Given the description of an element on the screen output the (x, y) to click on. 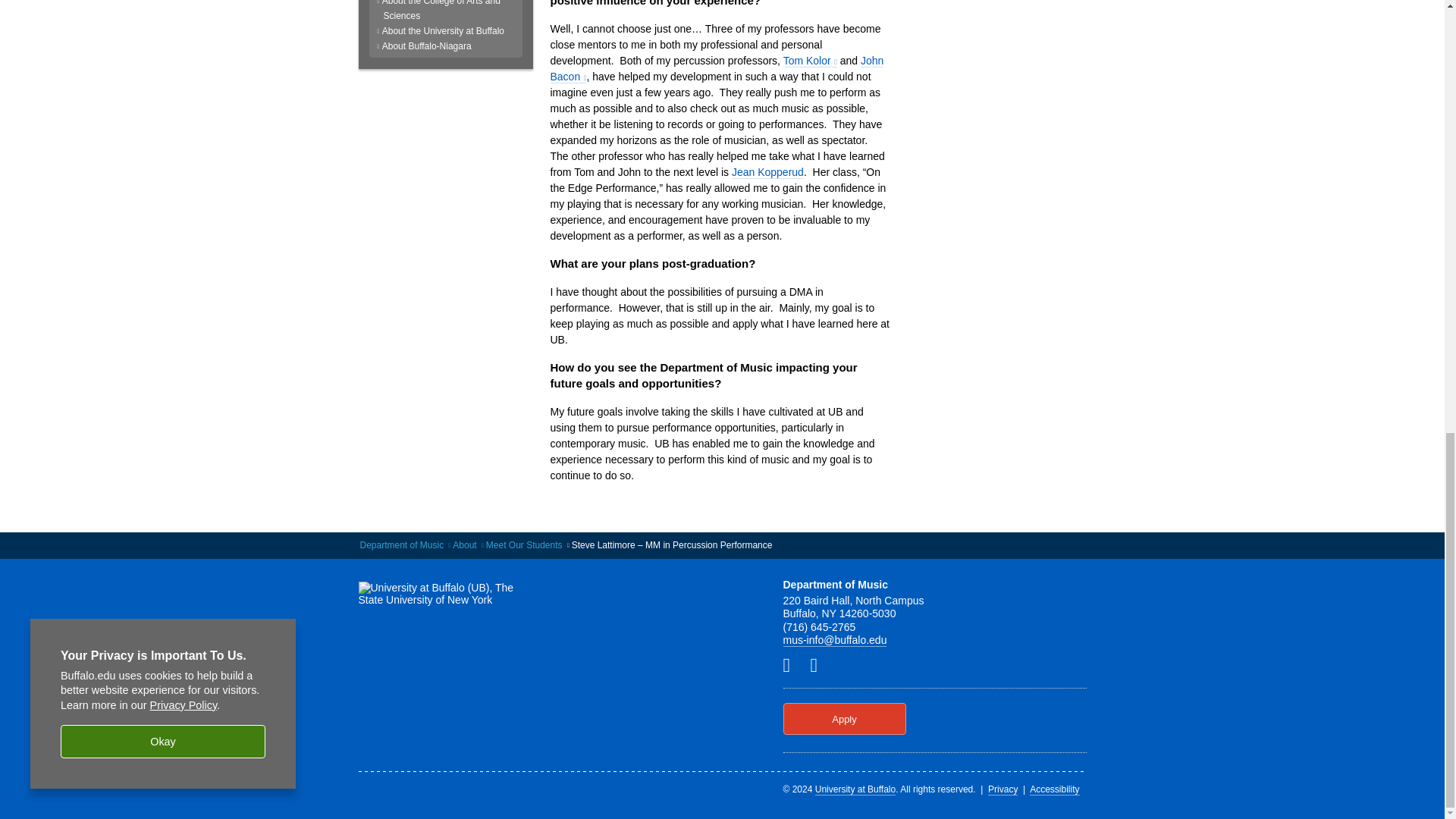
facebook (792, 664)
Instagram (819, 664)
This link opens a page in a new window or tab. (810, 60)
This link opens a page in a new window or tab. (716, 68)
